Given the description of an element on the screen output the (x, y) to click on. 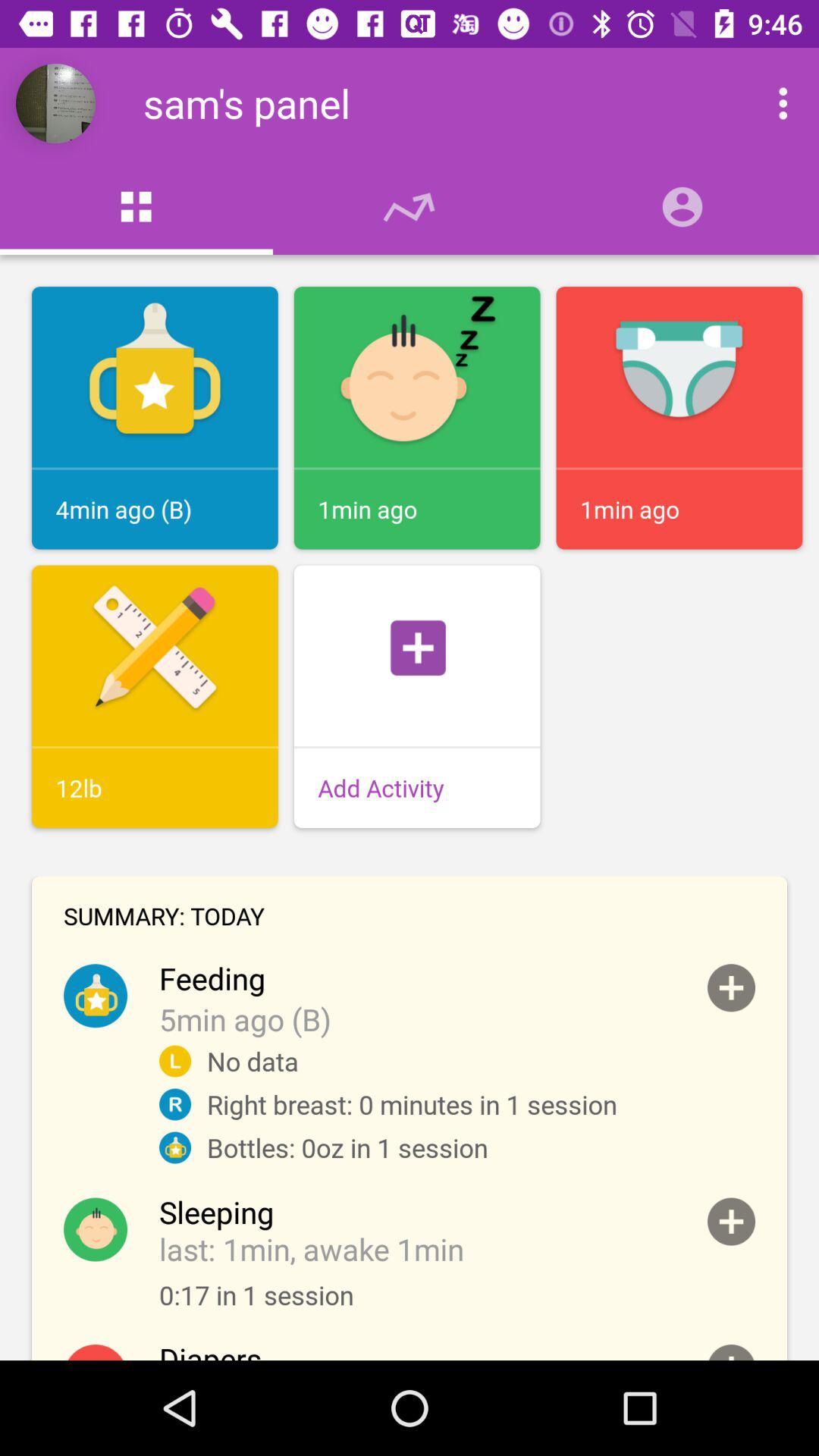
click top plus option (731, 987)
